Given the description of an element on the screen output the (x, y) to click on. 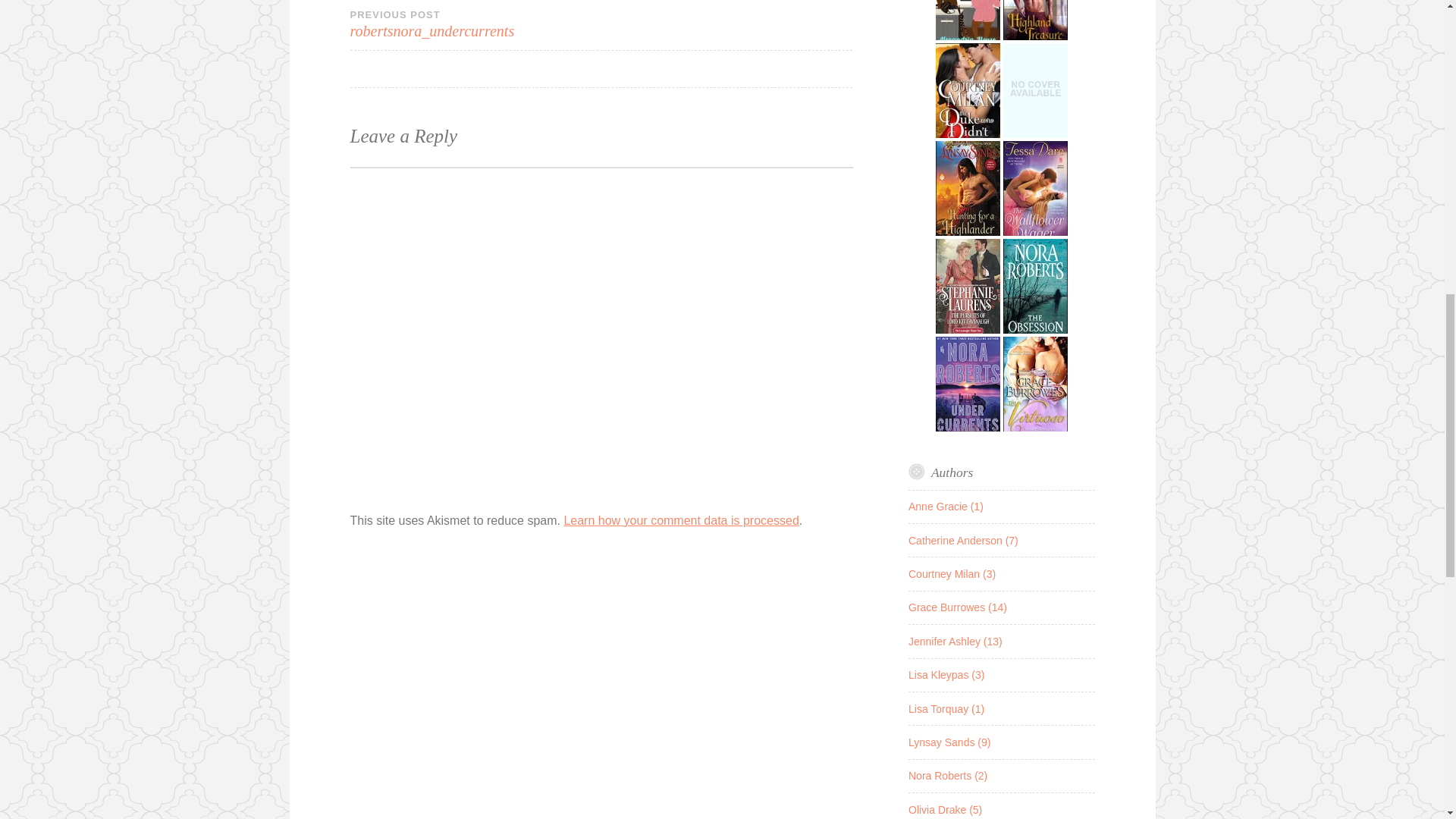
Highland Treasures (1035, 22)
The Pursuits of Lord Kit Cavanaugh by Stephanie Laurens (968, 333)
Goal (968, 22)
Goal by Alexandria House (968, 39)
The Obsession by Nora Roberts (1035, 333)
Learn how your comment data is processed (680, 520)
